Given the description of an element on the screen output the (x, y) to click on. 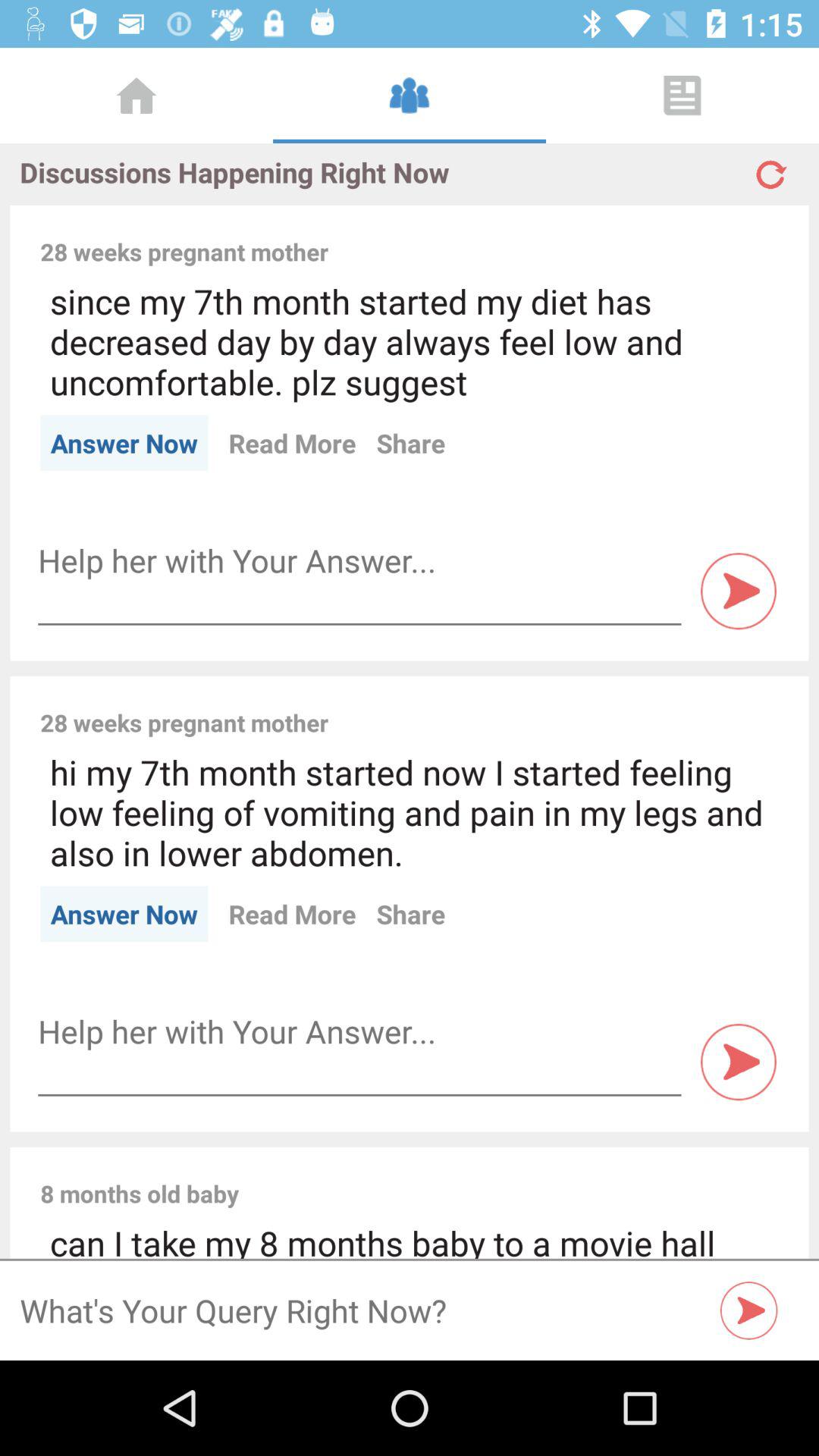
submit answer (738, 1061)
